Given the description of an element on the screen output the (x, y) to click on. 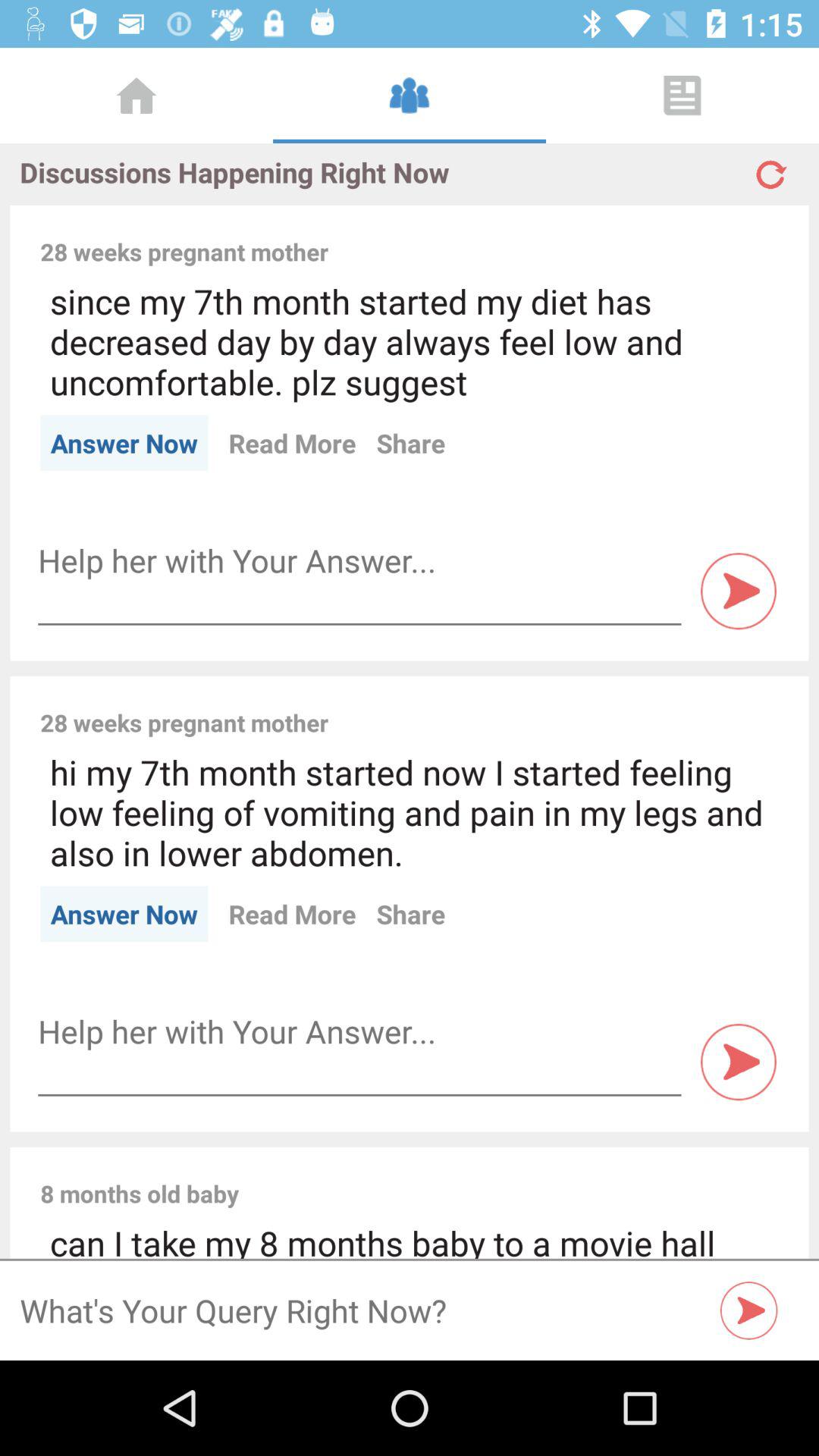
submit answer (738, 1061)
